Given the description of an element on the screen output the (x, y) to click on. 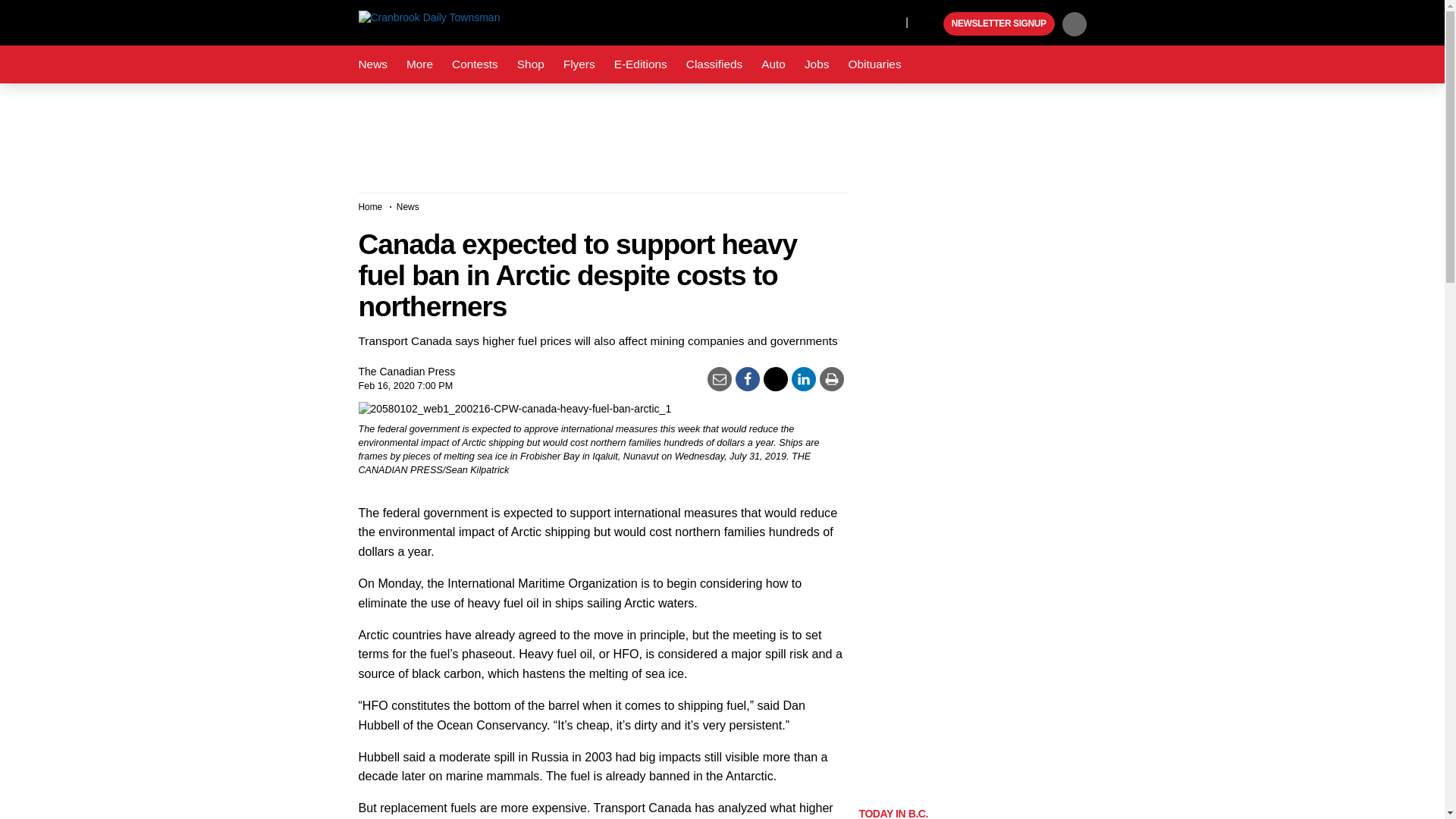
Black Press Media (929, 24)
News (372, 64)
X (889, 21)
Play (929, 24)
NEWSLETTER SIGNUP (998, 24)
